Given the description of an element on the screen output the (x, y) to click on. 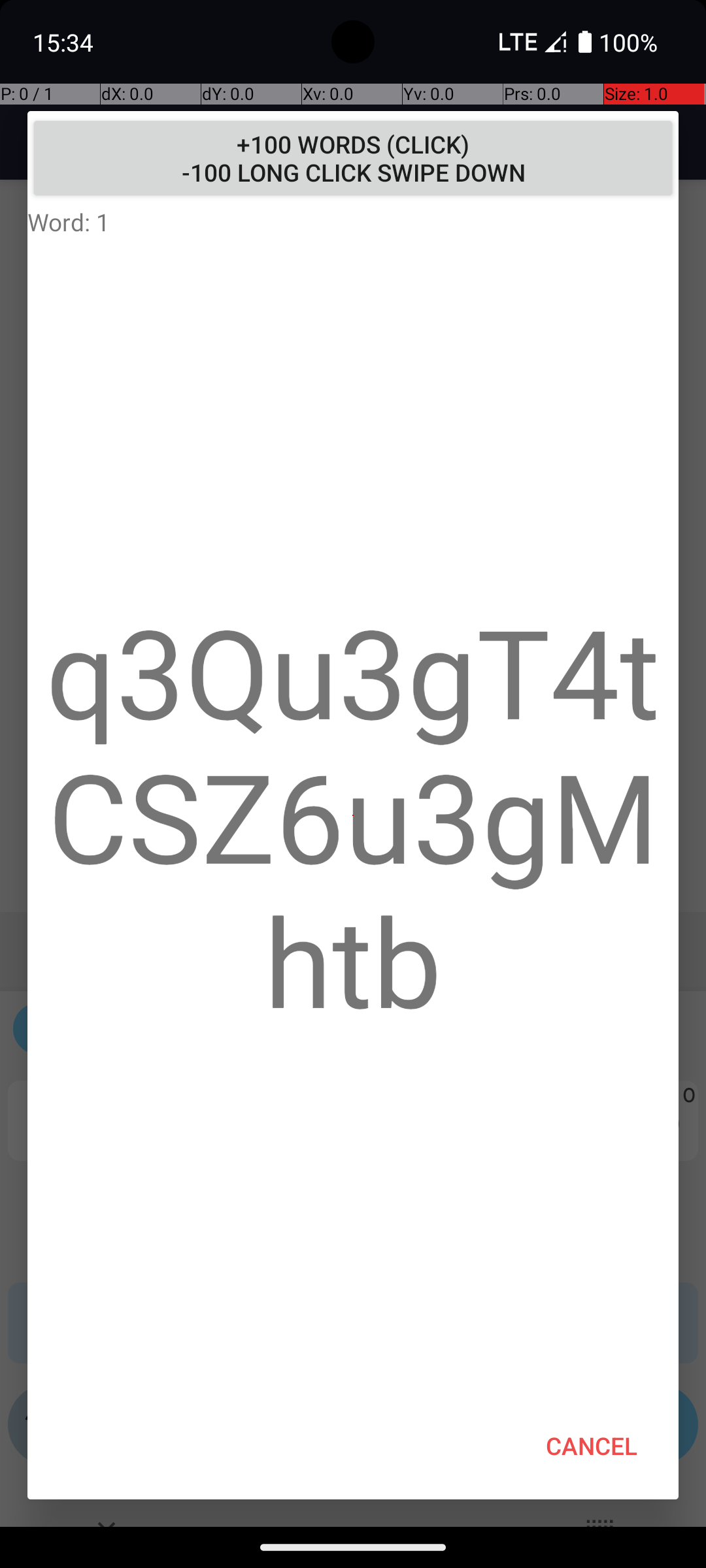
+100 WORDS (CLICK)
-100 LONG CLICK SWIPE DOWN Element type: android.widget.Button (352, 158)
Word: 1 Element type: android.widget.TextView (352, 221)
q3Qu3gT4tCSZ6u3gMhtb Element type: android.widget.TextView (352, 815)
